Given the description of an element on the screen output the (x, y) to click on. 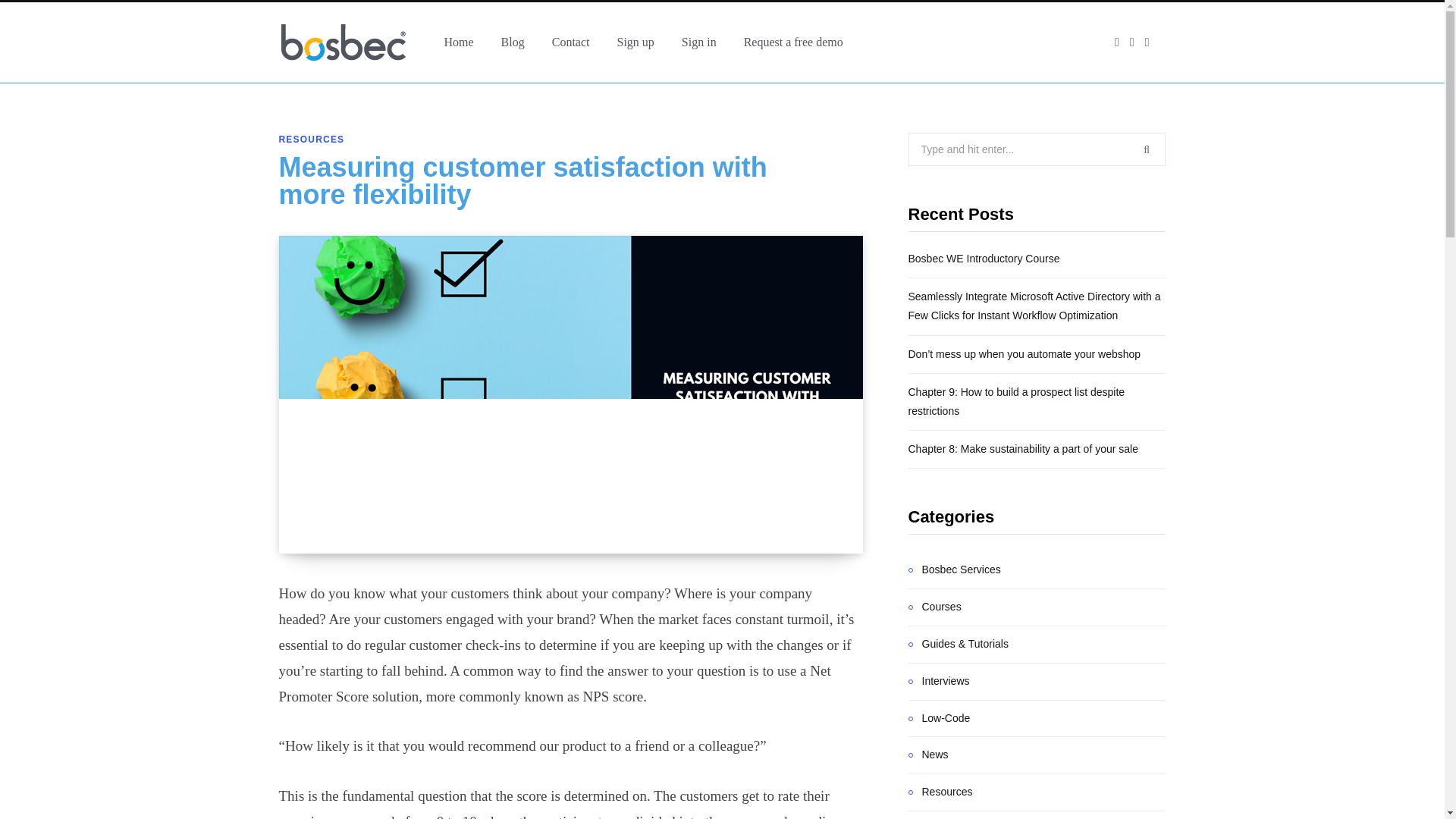
Bosbec Services (954, 570)
Bosbec WE Introductory Course (983, 258)
Home (458, 41)
Chapter 9: How to build a prospect list despite restrictions (1016, 400)
Resources (940, 791)
Courses (934, 607)
RESOURCES (312, 139)
Low-Code (939, 719)
